Given the description of an element on the screen output the (x, y) to click on. 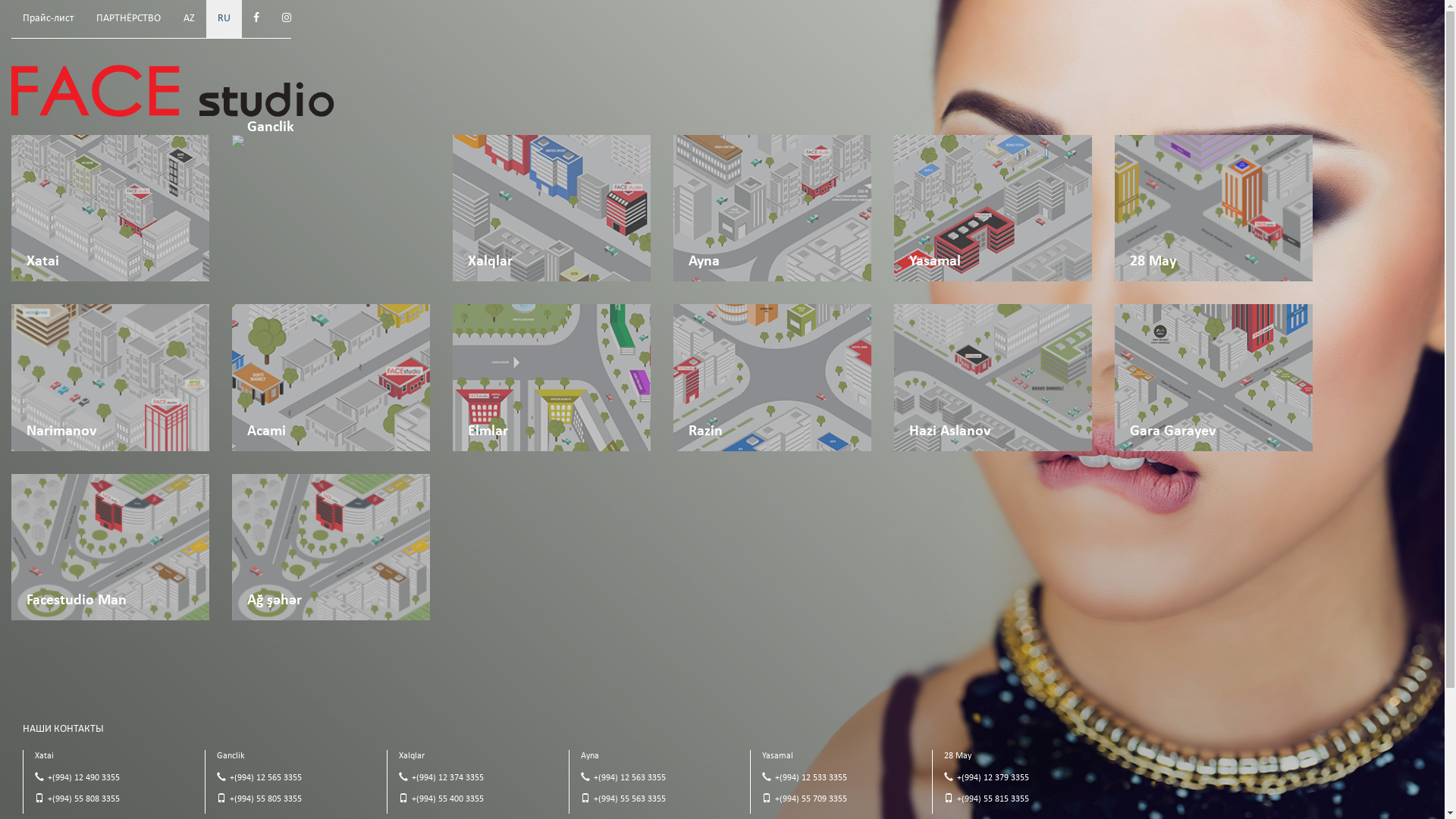
RU Element type: text (223, 18)
Facestudio Man Element type: text (110, 546)
Ganclik Element type: text (330, 140)
Hazi Aslanov Element type: text (993, 377)
28 May Element type: text (1213, 207)
Razin Element type: text (772, 377)
+(994) 12 563 3355 Element type: text (629, 777)
AZ Element type: text (189, 18)
+(994) 12 379 3355 Element type: text (993, 777)
+(994) 12 565 3355 Element type: text (265, 777)
Yasamal Element type: text (993, 207)
+(994) 55 709 3355 Element type: text (811, 798)
Xatai Element type: text (110, 207)
Narimanov Element type: text (110, 377)
+(994) 12 490 3355 Element type: text (83, 777)
+(994) 55 815 3355 Element type: text (993, 798)
+(994) 55 808 3355 Element type: text (83, 798)
Xalqlar Element type: text (551, 207)
+(994) 12 374 3355 Element type: text (447, 777)
Acami Element type: text (330, 377)
+(994) 55 400 3355 Element type: text (447, 798)
+(994) 55 563 3355 Element type: text (629, 798)
Gara Garayev Element type: text (1213, 377)
Elmlar Element type: text (551, 377)
Ayna Element type: text (772, 207)
+(994) 12 533 3355 Element type: text (811, 777)
+(994) 55 805 3355 Element type: text (265, 798)
